Given the description of an element on the screen output the (x, y) to click on. 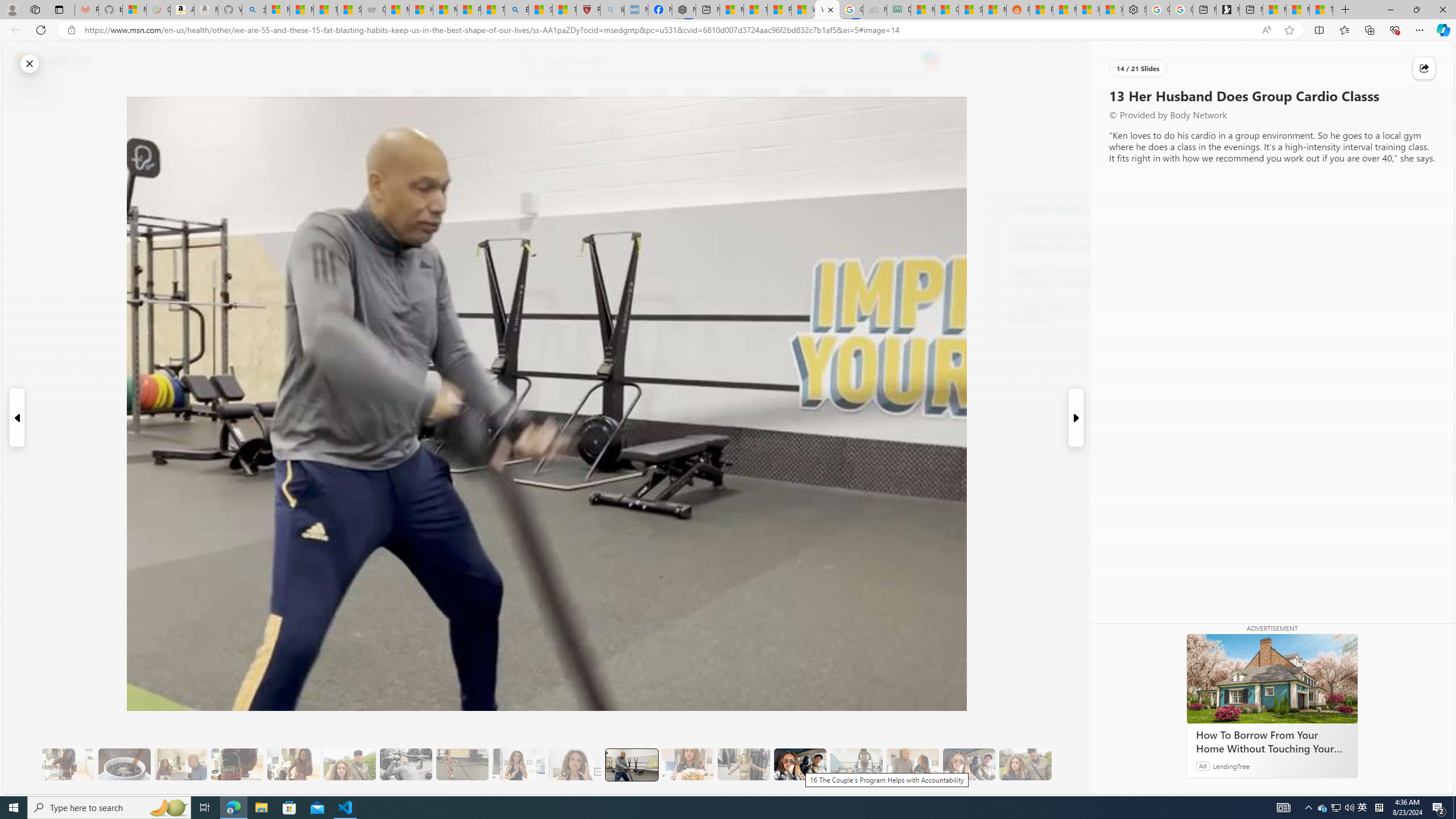
18 It's More Fun Doing It with Someone Else (912, 764)
Microsoft account | Privacy (277, 9)
Open Copilot (930, 59)
15 They Also Indulge in a Low-Calorie Sweet Treat (743, 764)
Technology (608, 92)
Food & Drink (865, 92)
6 Like (299, 138)
How To Borrow From Your Home Without Touching Your Mortgage (1271, 678)
Dislike (299, 170)
Next Slide (1076, 417)
Microsoft Start (53, 60)
